Given the description of an element on the screen output the (x, y) to click on. 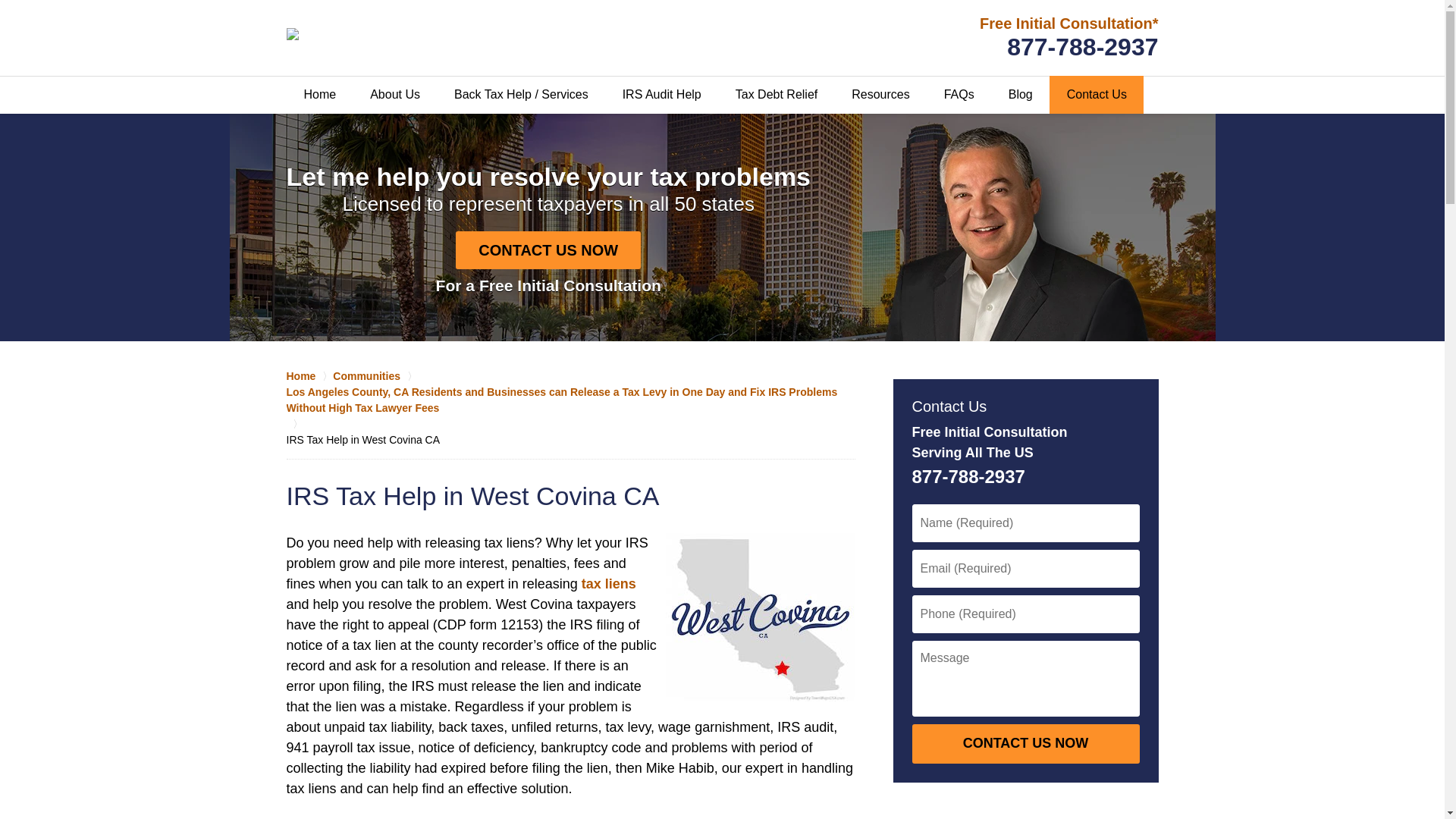
About Us (394, 94)
CONTACT US NOW (547, 249)
CONTACT US NOW (1024, 743)
Home (319, 94)
FAQs (958, 94)
Resources (880, 94)
Tax Debt Relief (775, 94)
Home (309, 376)
Contact Us (1095, 94)
California Tax Services Mike Habib, EA Home (418, 37)
Communities (375, 376)
Back to Home (418, 37)
Blog (1020, 94)
877-788-2937 (1082, 46)
